Given the description of an element on the screen output the (x, y) to click on. 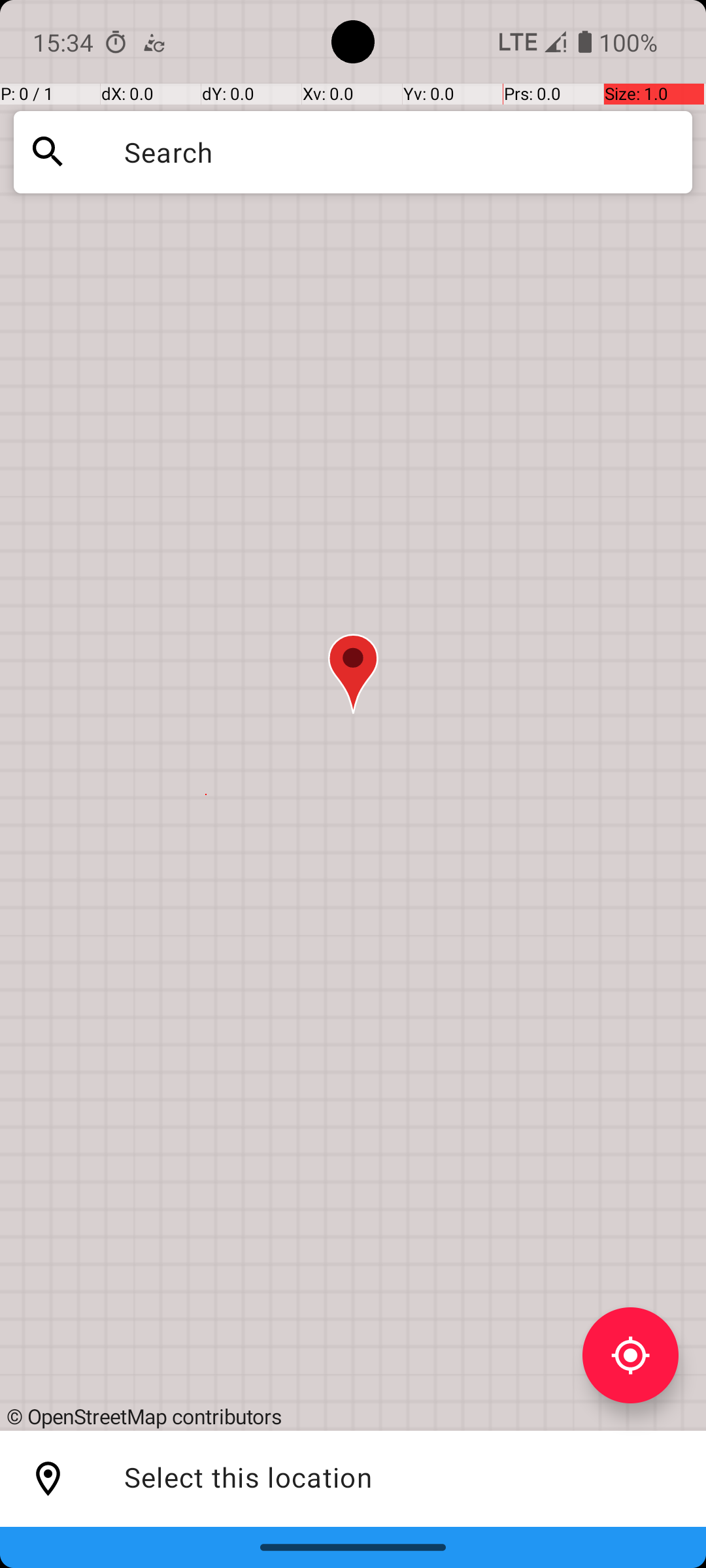
Select this location Element type: android.widget.ImageView (47, 1478)
